Given the description of an element on the screen output the (x, y) to click on. 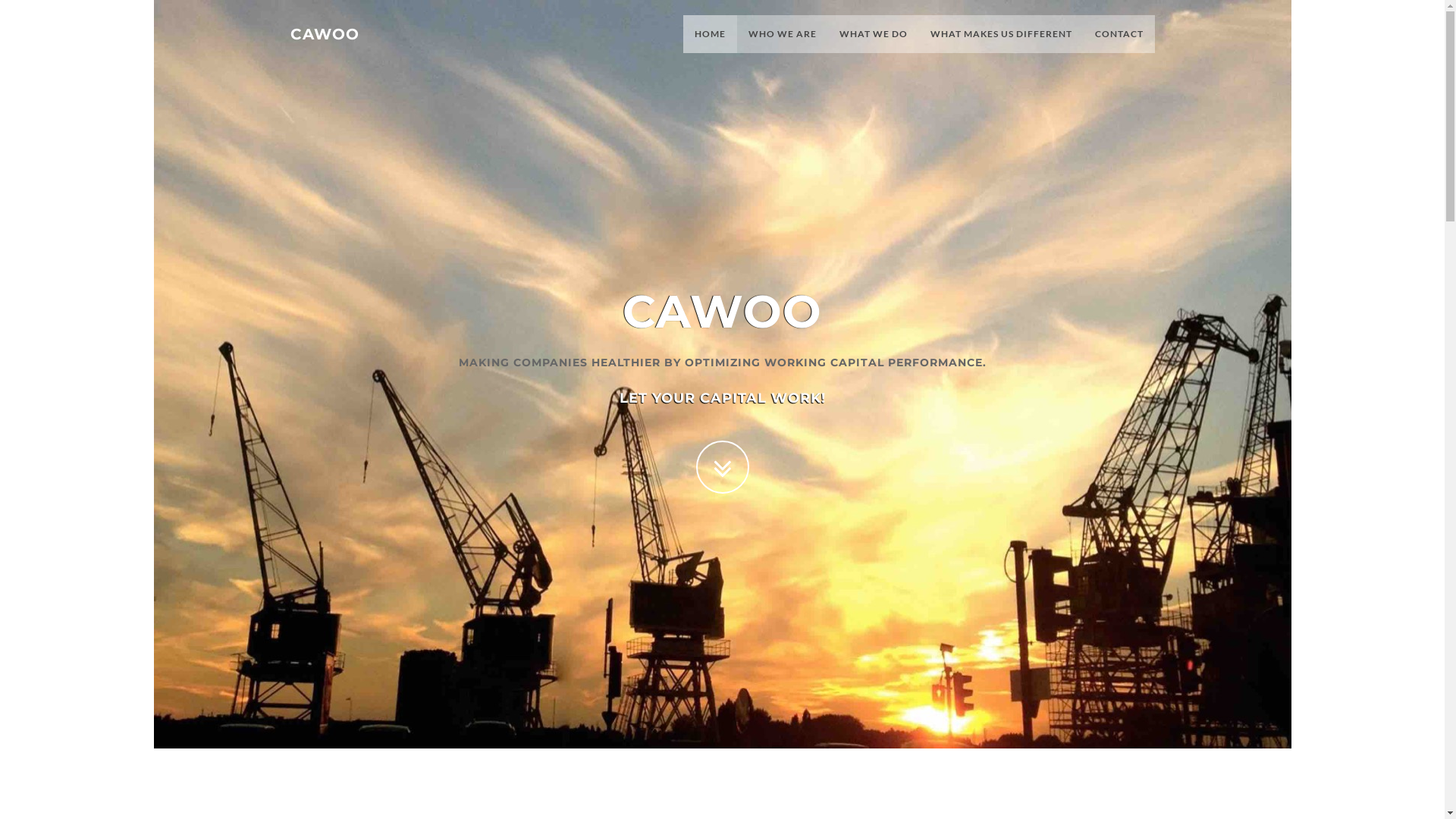
CONTACT Element type: text (1118, 34)
WHO WE ARE Element type: text (782, 34)
HOME Element type: text (709, 34)
WHAT WE DO Element type: text (873, 34)
CAWOO Element type: text (324, 30)
WHAT MAKES US DIFFERENT Element type: text (1001, 34)
